Given the description of an element on the screen output the (x, y) to click on. 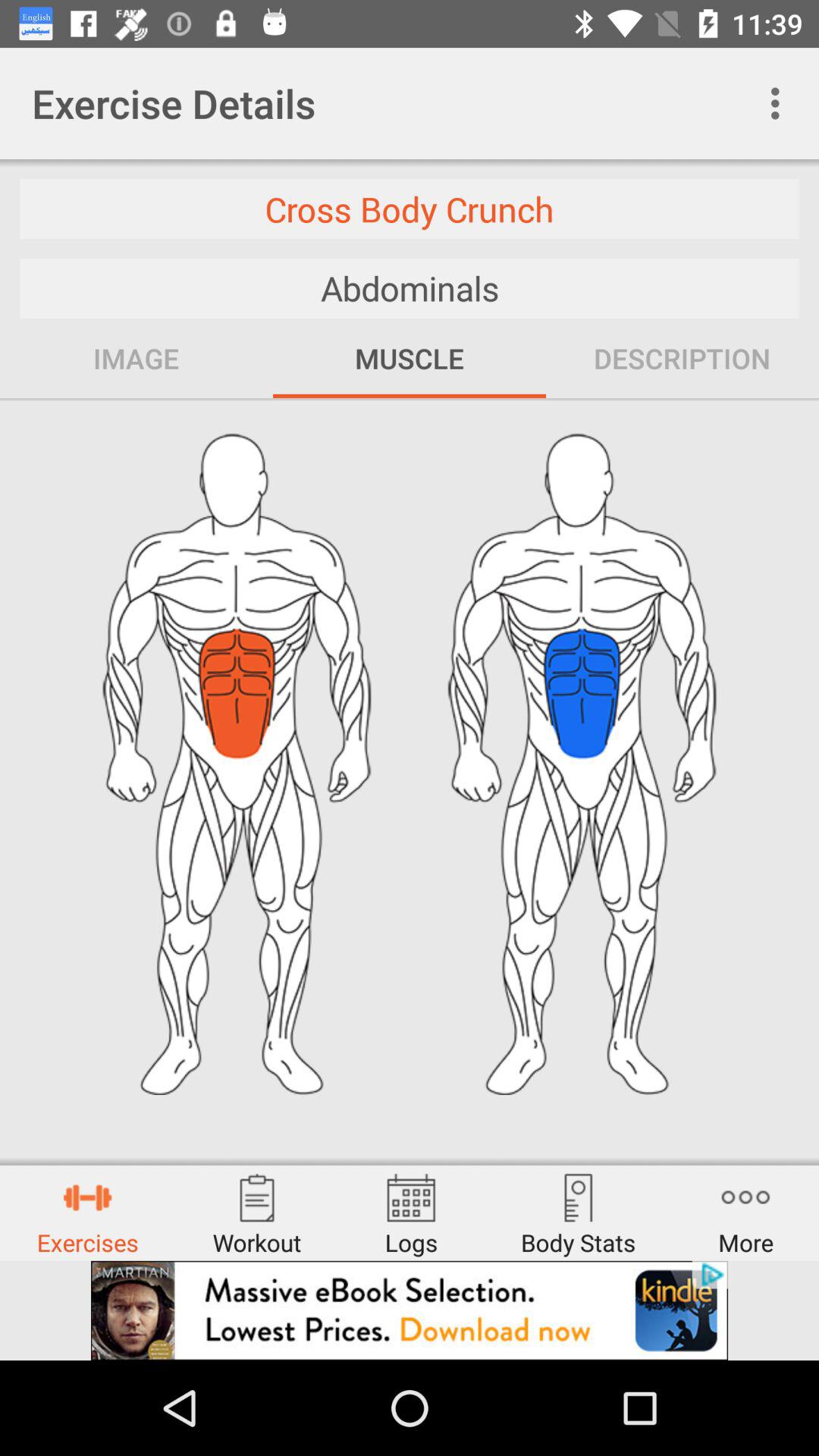
open advertisements (409, 1310)
